Given the description of an element on the screen output the (x, y) to click on. 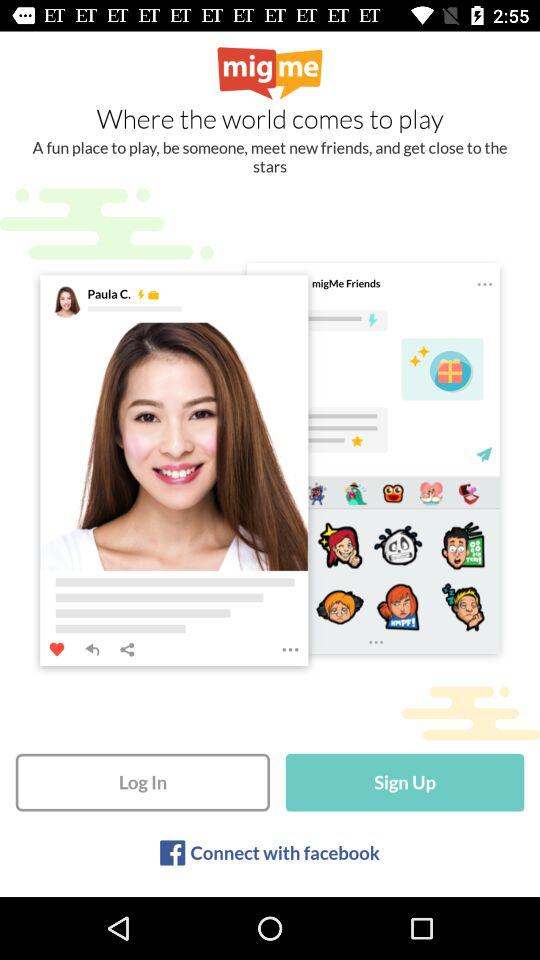
tap the icon below the log in icon (284, 852)
